Given the description of an element on the screen output the (x, y) to click on. 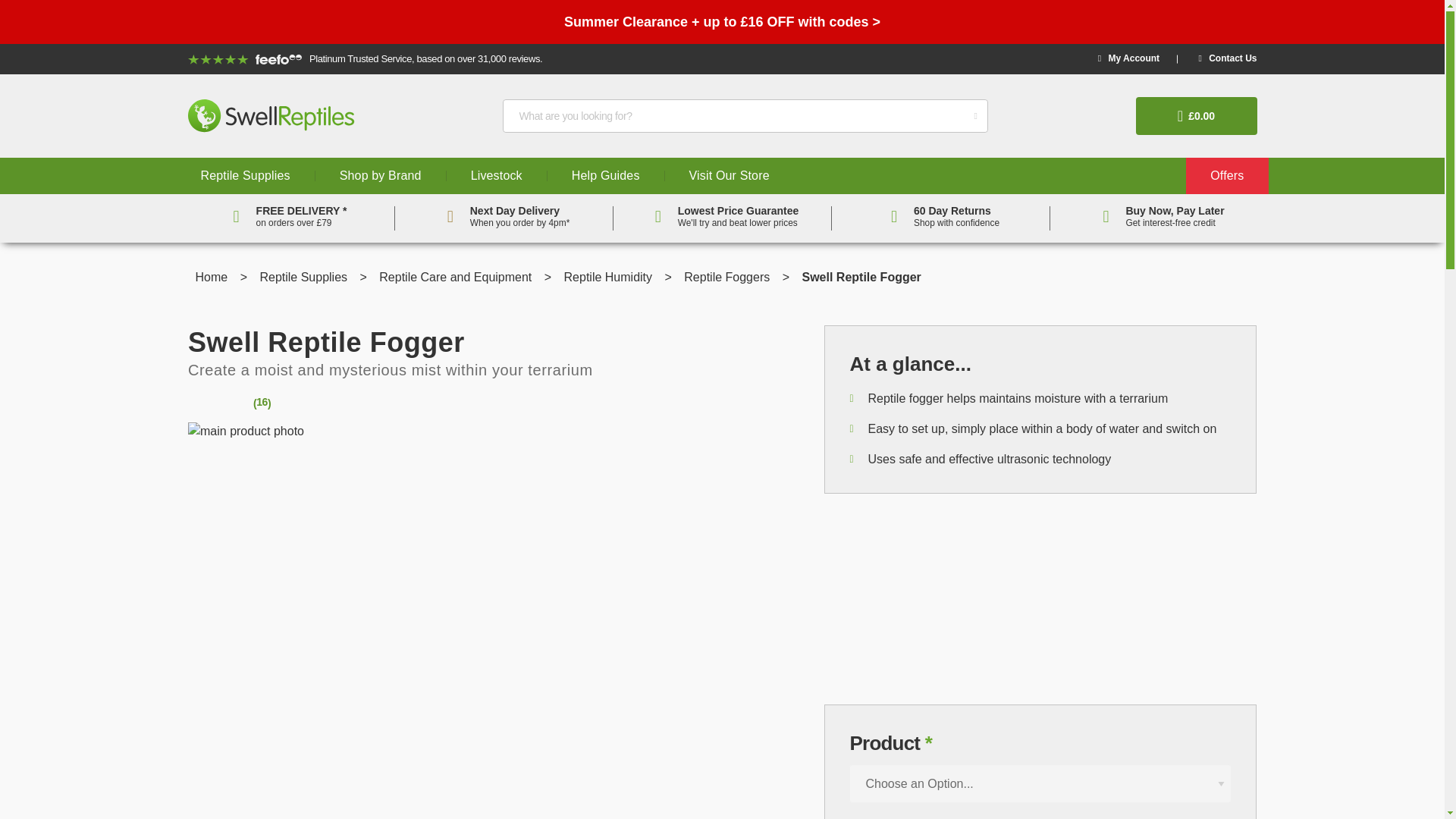
Contact Us (1227, 58)
Go to Home Page (213, 277)
My Account (1127, 58)
Reptile Supplies (245, 176)
